Given the description of an element on the screen output the (x, y) to click on. 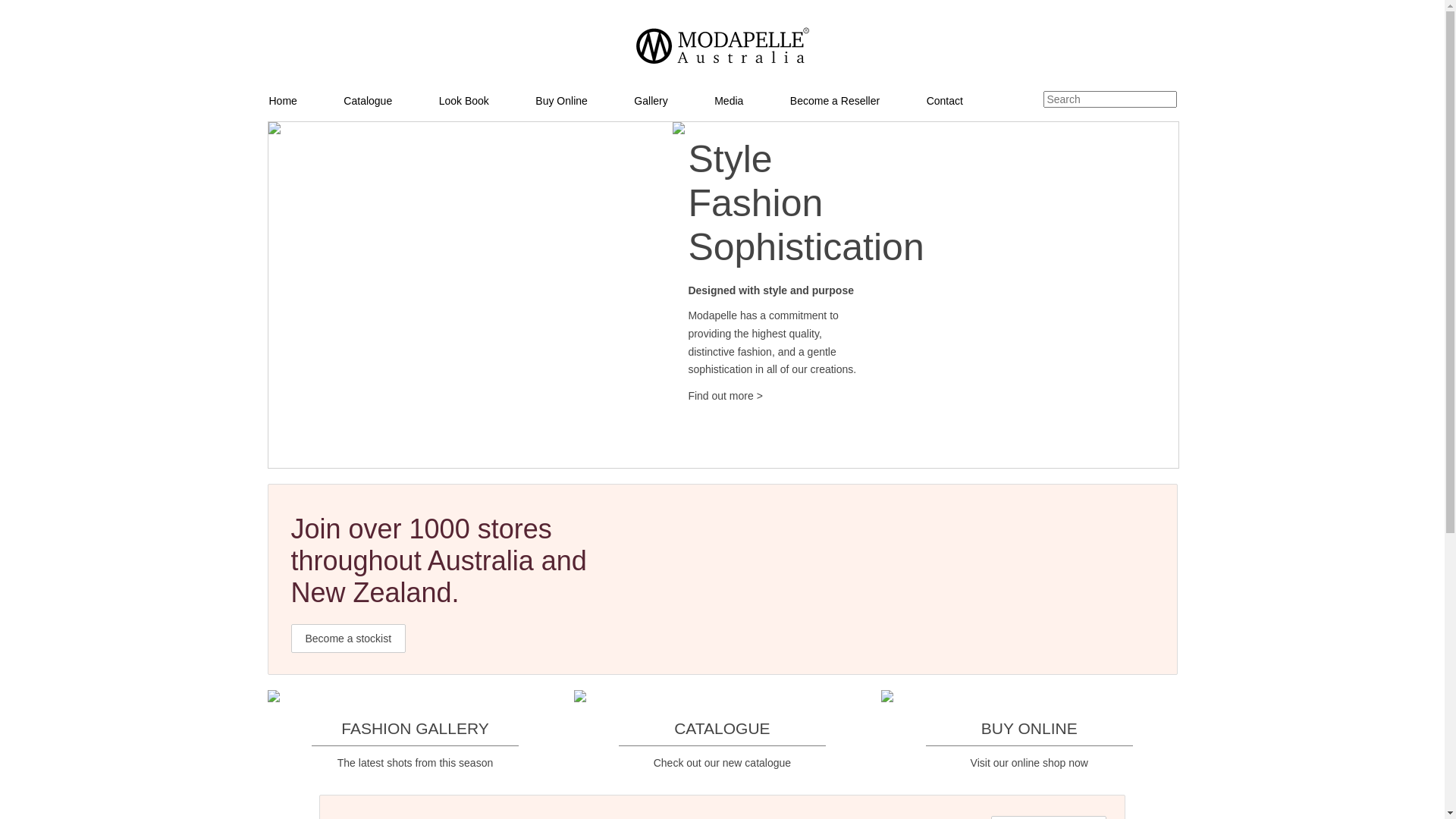
Become a Reseller Element type: text (857, 100)
BUY ONLINE
Visit our online shop now Element type: text (1028, 729)
Look Book Element type: text (486, 100)
FASHION GALLERY
The latest shots from this season Element type: text (414, 729)
Catalogue Element type: text (389, 100)
Home Element type: text (305, 100)
Become a stockist Element type: text (348, 638)
CATALOGUE
Check out our new catalogue Element type: text (721, 729)
Buy Online Element type: text (583, 100)
Find out more > Element type: text (724, 395)
Contact Element type: text (967, 100)
Gallery Element type: text (672, 100)
Media Element type: text (751, 100)
